Given the description of an element on the screen output the (x, y) to click on. 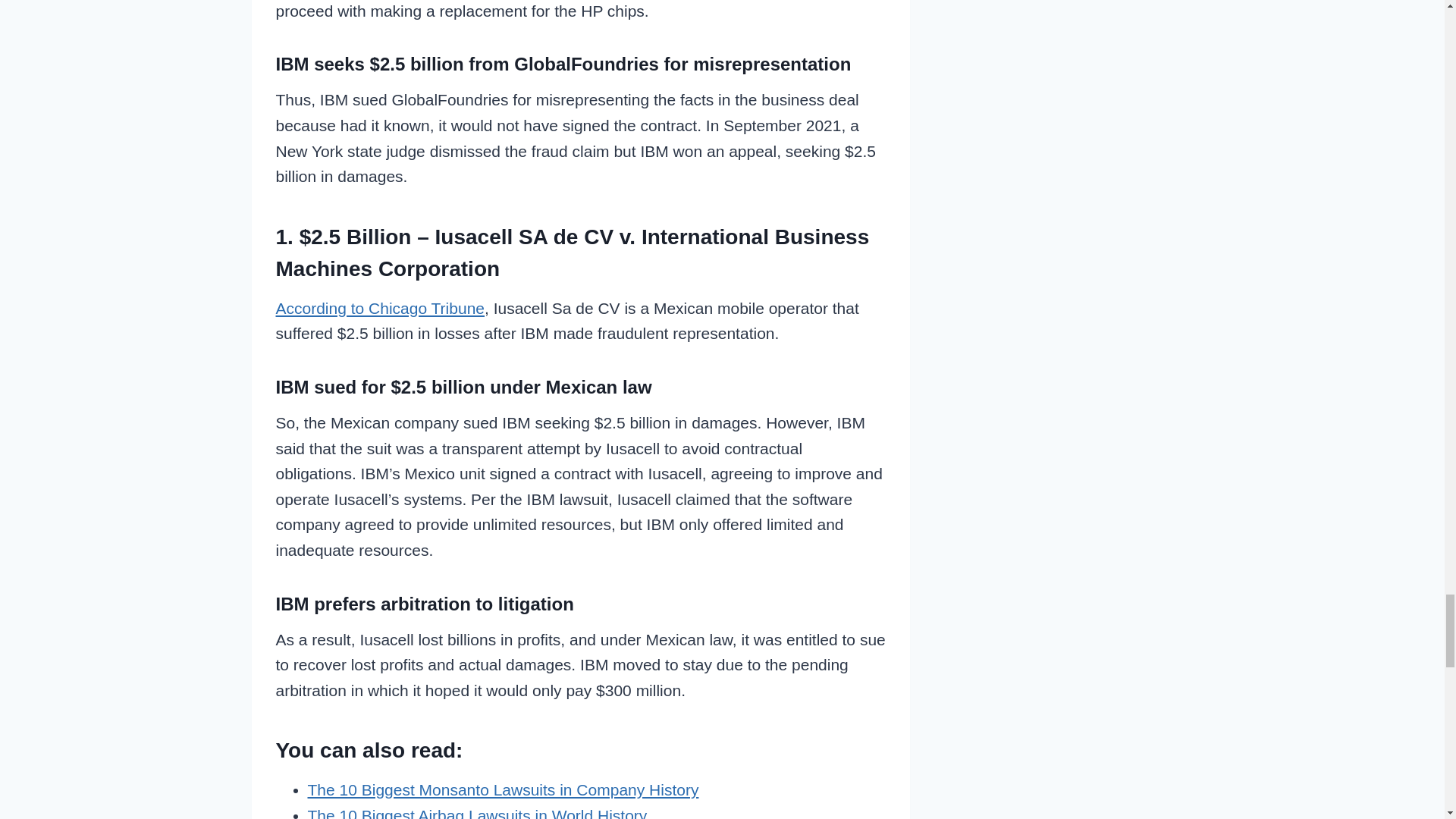
The 10 Biggest Monsanto Lawsuits in Company History (502, 789)
According to Chicago Tribune (380, 307)
The 10 Biggest Airbag Lawsuits in World History (477, 812)
